Given the description of an element on the screen output the (x, y) to click on. 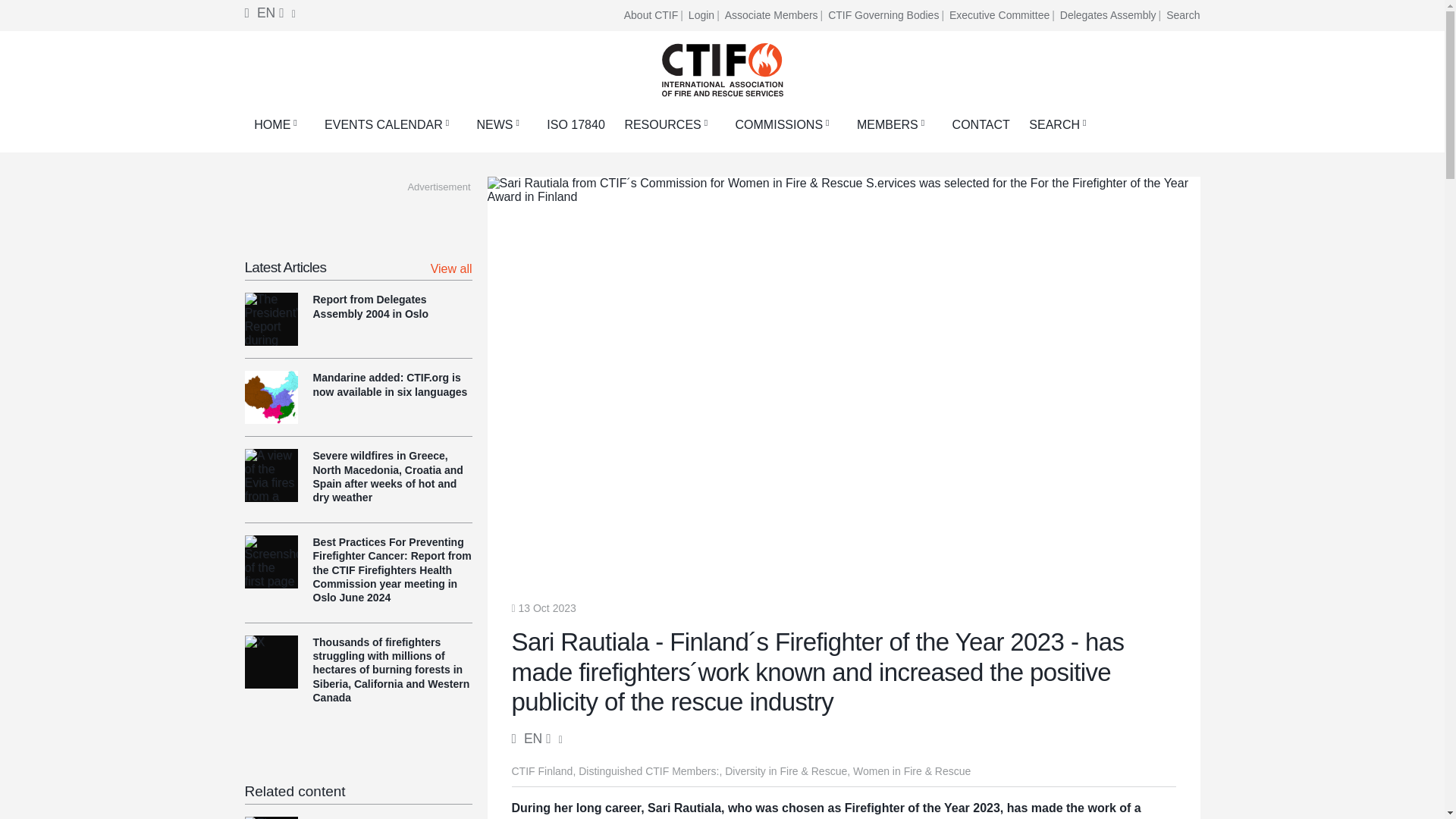
CTIF Governing Bodies (887, 15)
Login (705, 15)
ISO 17840 (575, 124)
Delegates Assembly (1111, 15)
Executive Committee (1003, 15)
About CTIF (654, 15)
Associate Members (775, 15)
Search (1182, 15)
